Given the description of an element on the screen output the (x, y) to click on. 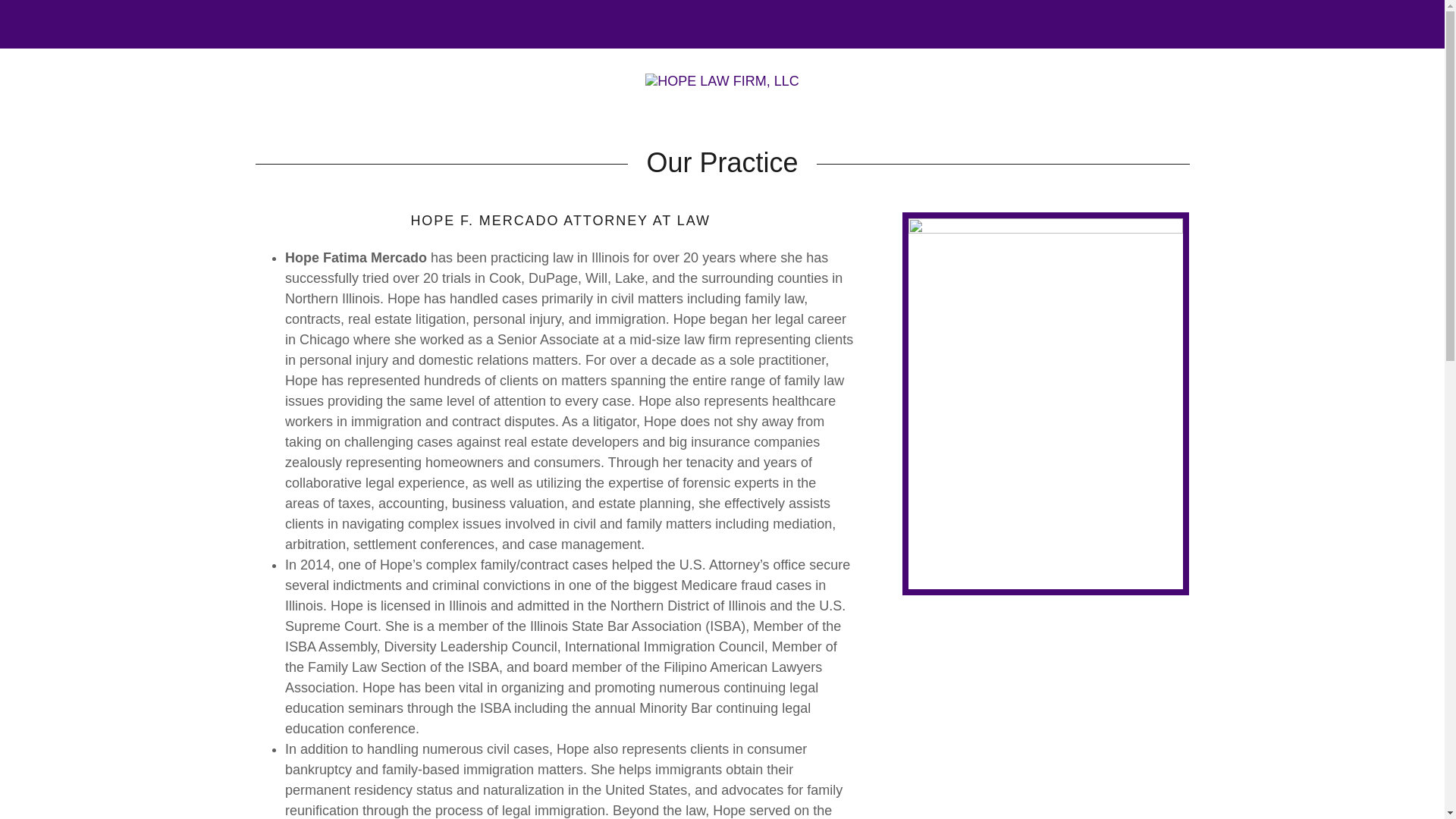
HOPE LAW FIRM, LLC (721, 79)
